Given the description of an element on the screen output the (x, y) to click on. 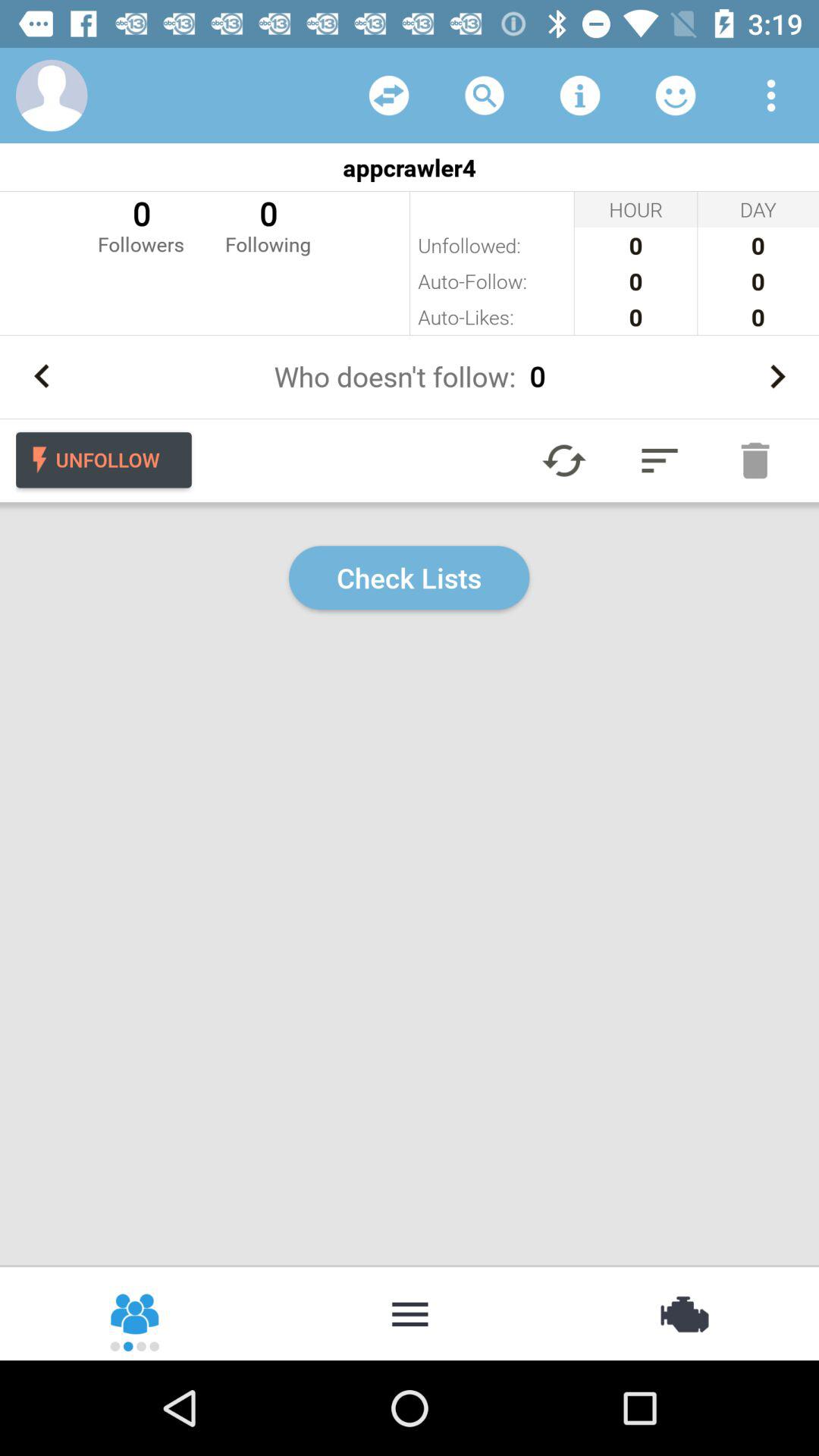
open the icon to the right of unfollow (563, 460)
